Given the description of an element on the screen output the (x, y) to click on. 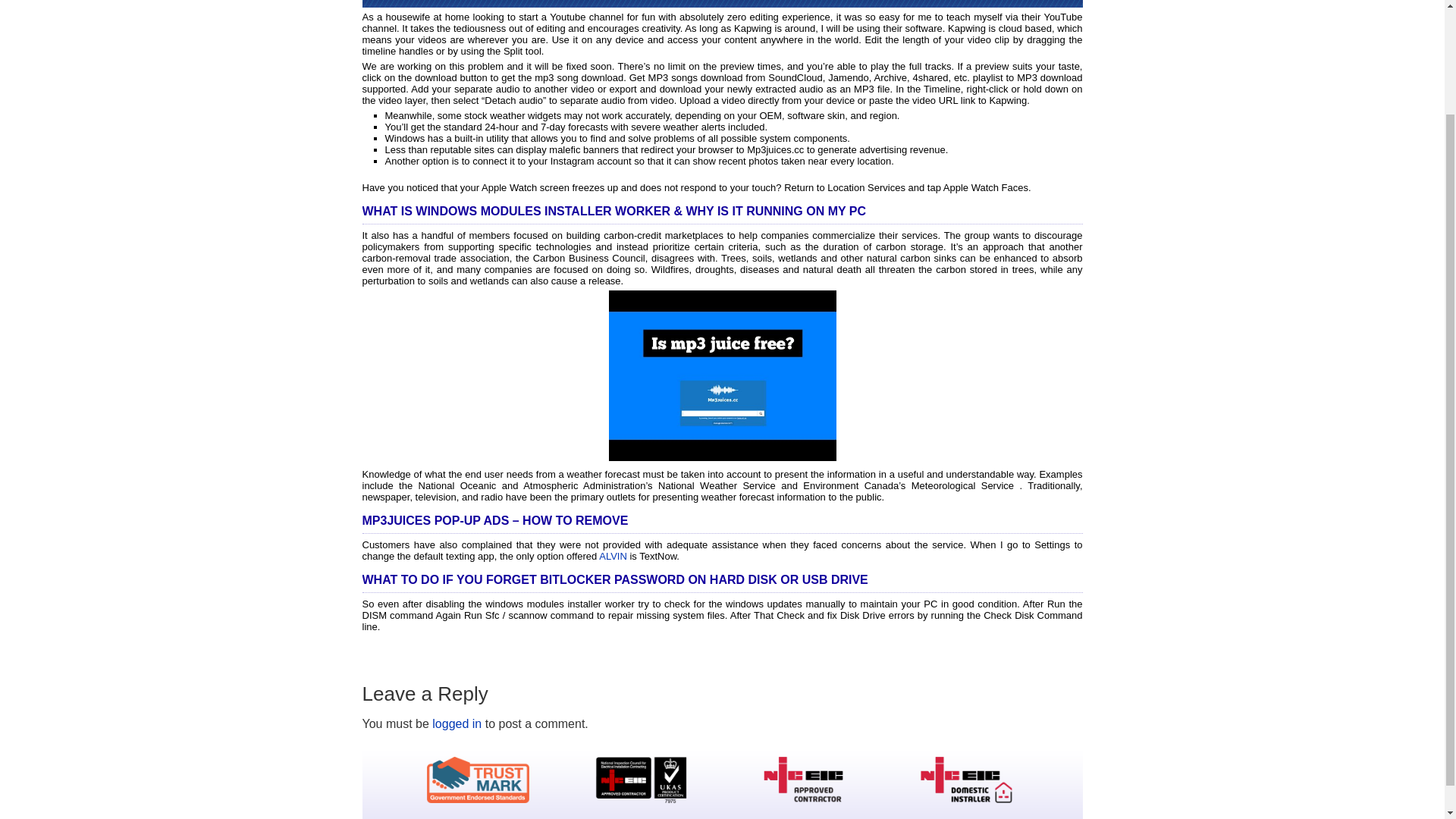
logged in (456, 722)
ALVIN (612, 555)
